Given the description of an element on the screen output the (x, y) to click on. 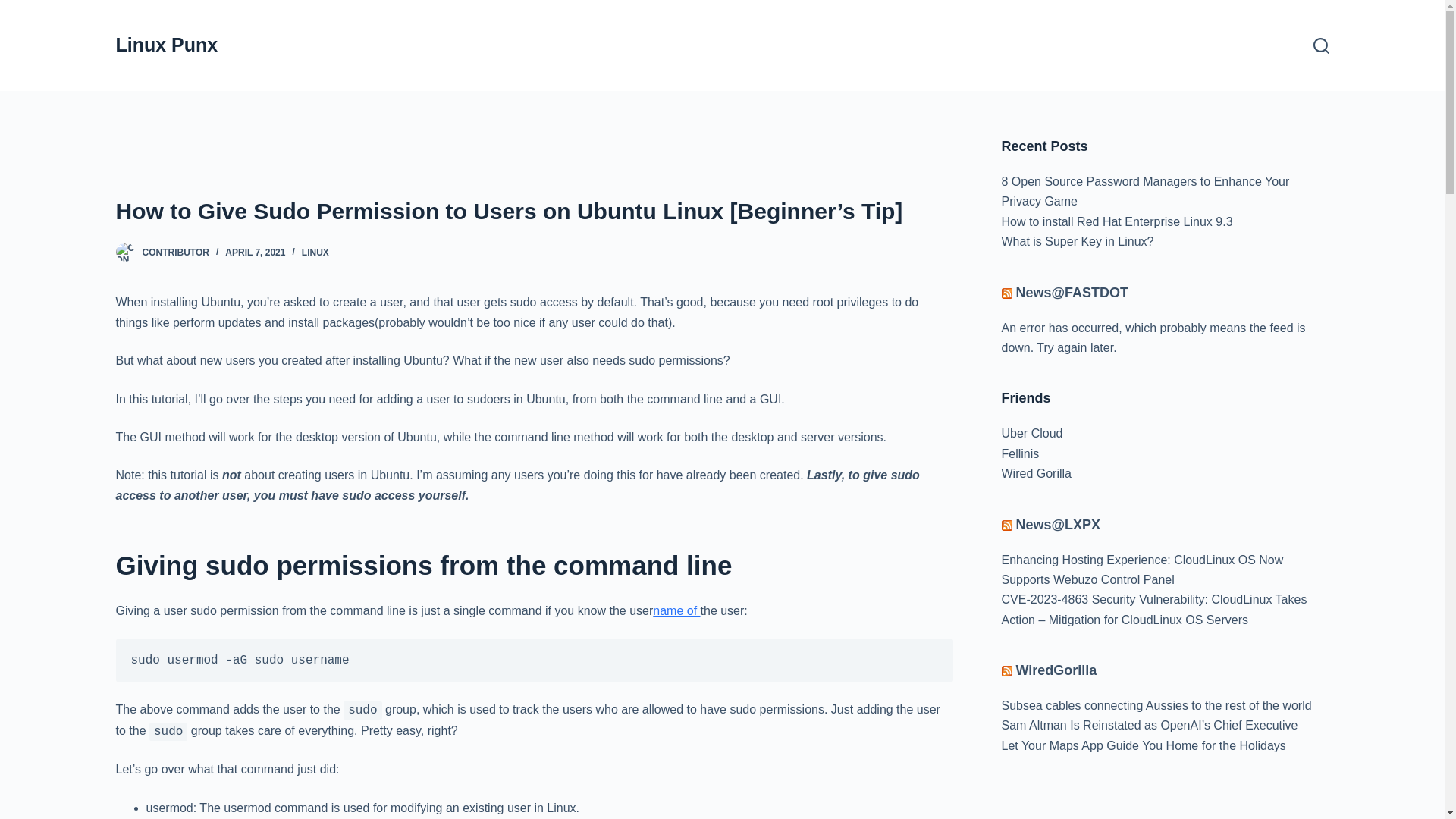
Uber Cloud Element type: text (1031, 432)
8 Open Source Password Managers to Enhance Your Privacy Game Element type: text (1145, 191)
Let Your Maps App Guide You Home for the Holidays Element type: text (1143, 745)
Linux Punx Element type: text (166, 44)
Fellinis Element type: text (1019, 453)
Wired Gorilla Element type: text (1035, 473)
Skip to content Element type: text (15, 7)
Subsea cables connecting Aussies to the rest of the world Element type: text (1156, 705)
WiredGorilla Element type: text (1056, 669)
How to install Red Hat Enterprise Linux 9.3 Element type: text (1116, 221)
What is Super Key in Linux? Element type: text (1077, 241)
name of Element type: text (675, 610)
News@LXPX Element type: text (1058, 524)
News@FASTDOT Element type: text (1072, 292)
CONTRIBUTOR Element type: text (175, 252)
LINUX Element type: text (315, 252)
